Given the description of an element on the screen output the (x, y) to click on. 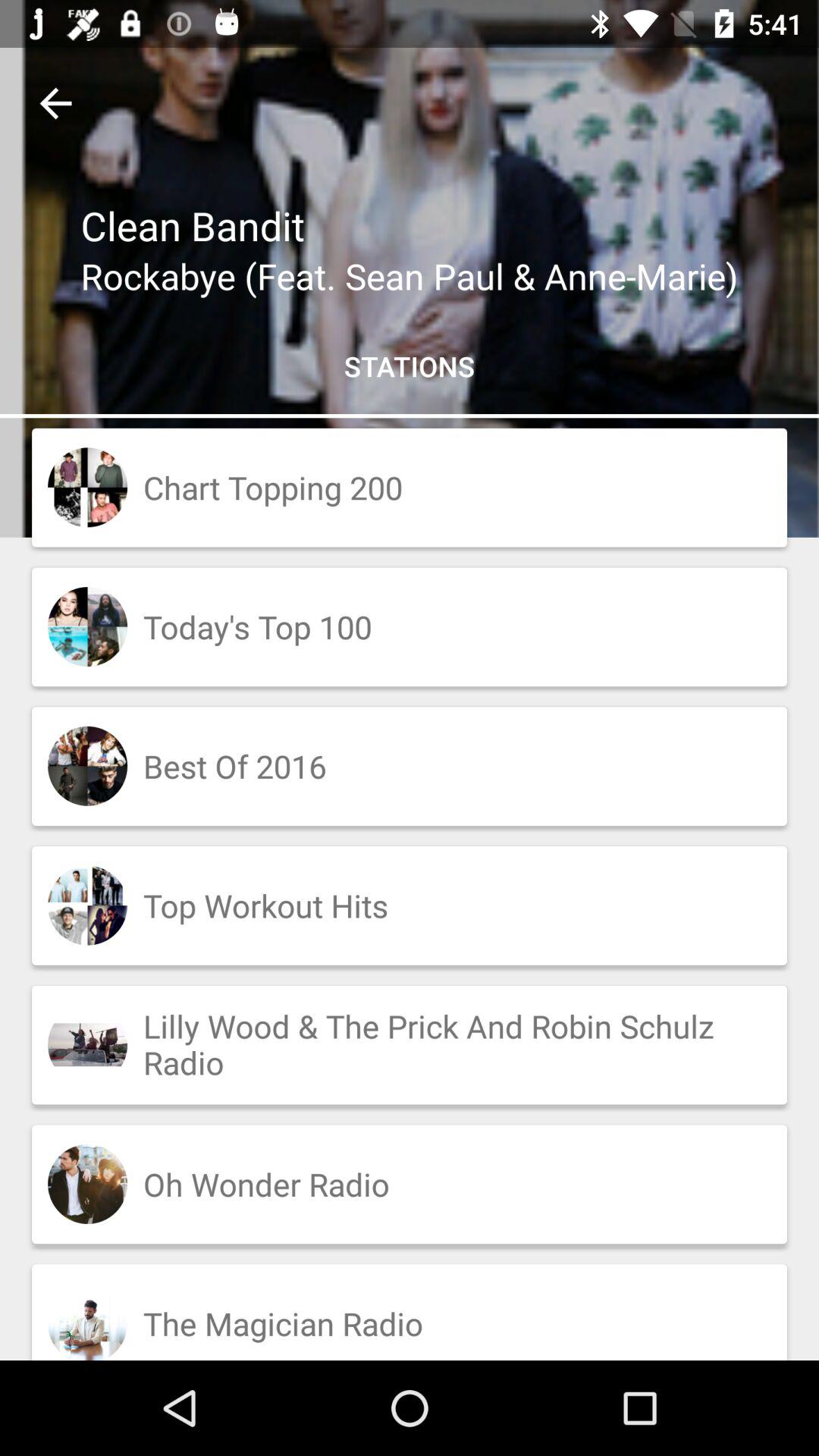
click on the last image of the bottom left corner (87, 1321)
click on the image which is to the left side of the best of 2016 (87, 766)
choose the second image from down (87, 1184)
click on image in third option from bottom (87, 1044)
click on the top workout hits (409, 905)
